Given the description of an element on the screen output the (x, y) to click on. 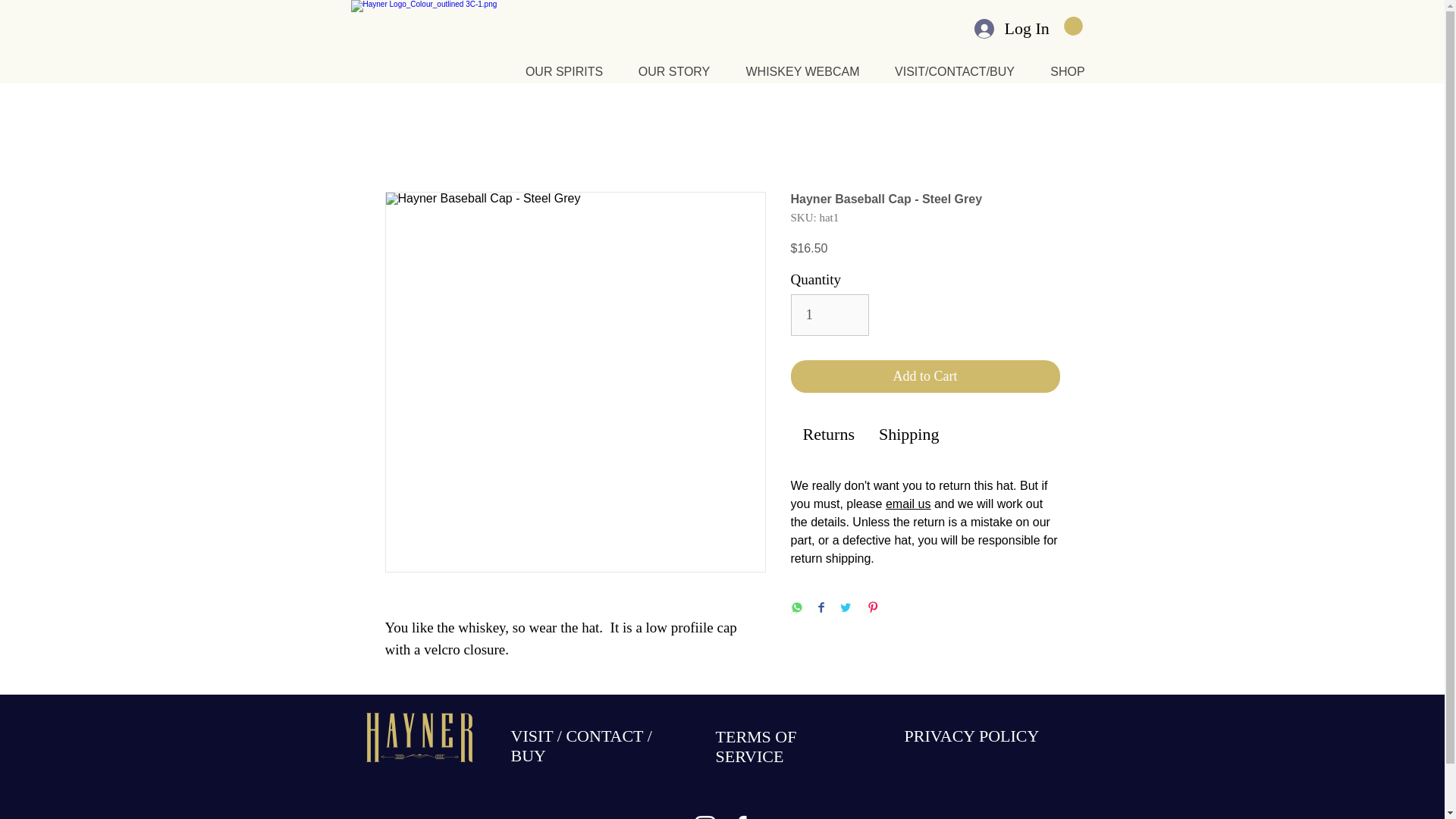
WHISKEY WEBCAM (802, 71)
Log In (1008, 27)
Use right and left arrows to navigate between tabs (908, 434)
Use right and left arrows to navigate between tabs (828, 434)
SHOP (1066, 71)
1 (829, 314)
Add to Cart (924, 376)
email us (908, 503)
